Given the description of an element on the screen output the (x, y) to click on. 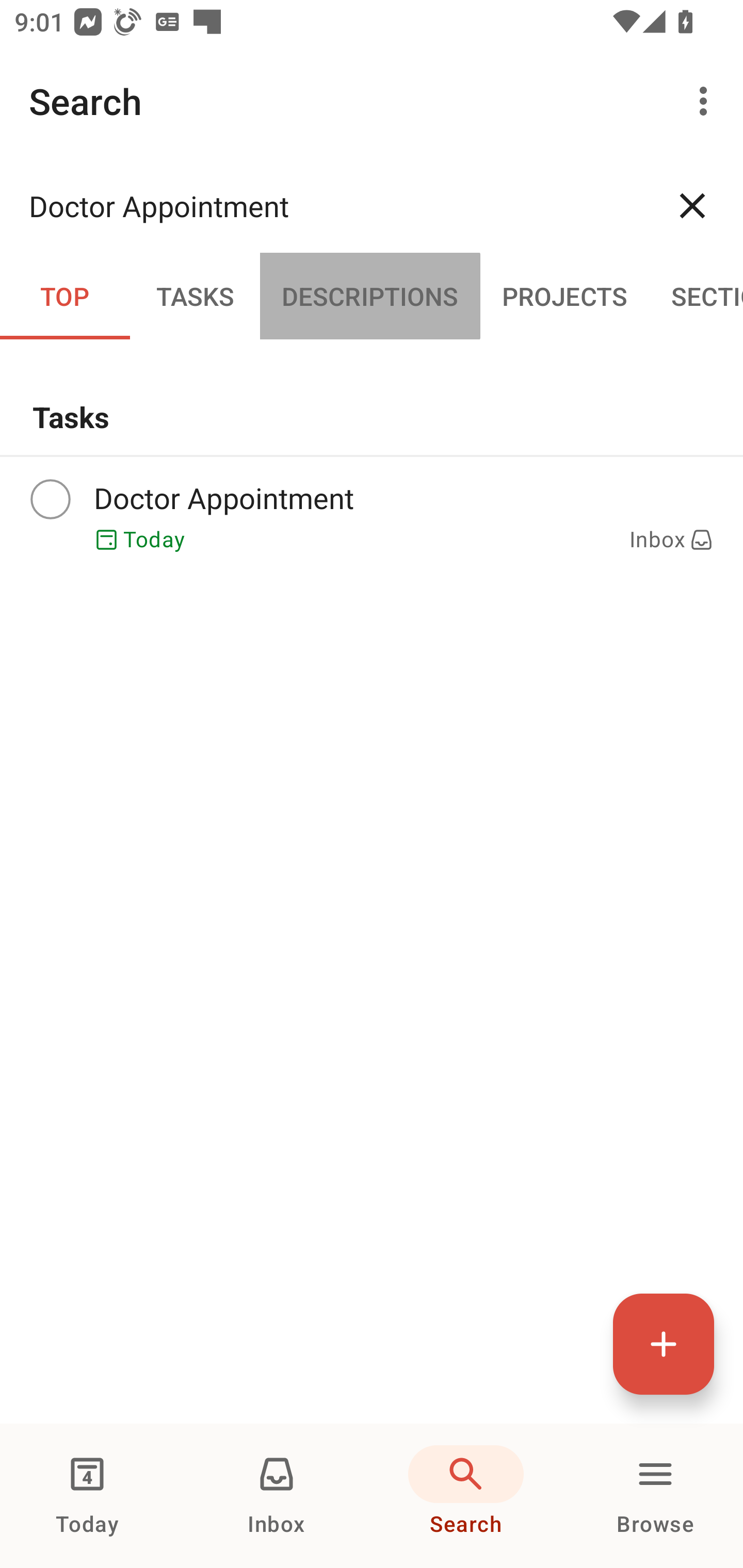
Search More options (371, 100)
More options (706, 101)
Doctor Appointment (335, 205)
Clear (692, 205)
Tasks TASKS (195, 295)
Descriptions DESCRIPTIONS (370, 295)
Projects PROJECTS (564, 295)
Complete Doctor Appointment Today Inbox (371, 514)
Complete (50, 499)
Quick add (663, 1343)
Today (87, 1495)
Inbox (276, 1495)
Browse (655, 1495)
